Given the description of an element on the screen output the (x, y) to click on. 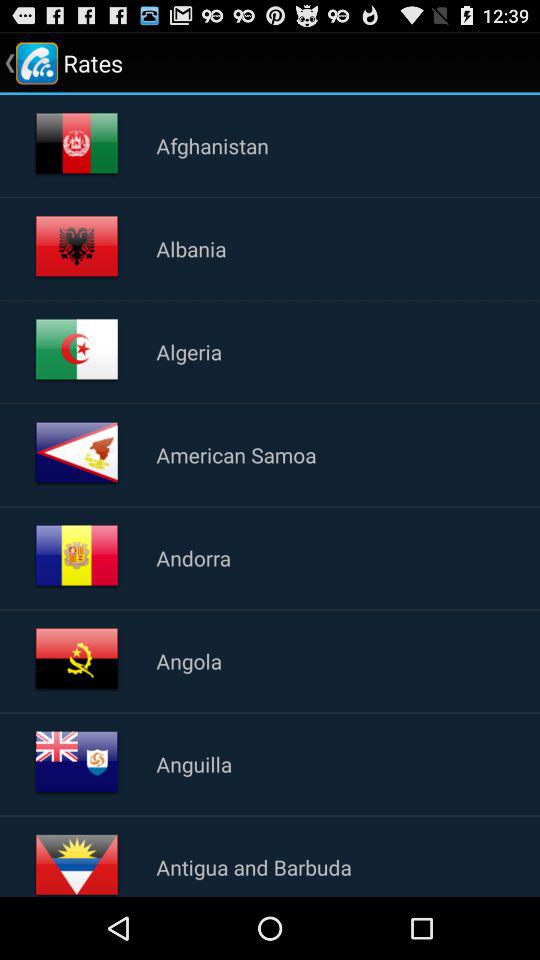
select the image left to the text albania (76, 248)
